Given the description of an element on the screen output the (x, y) to click on. 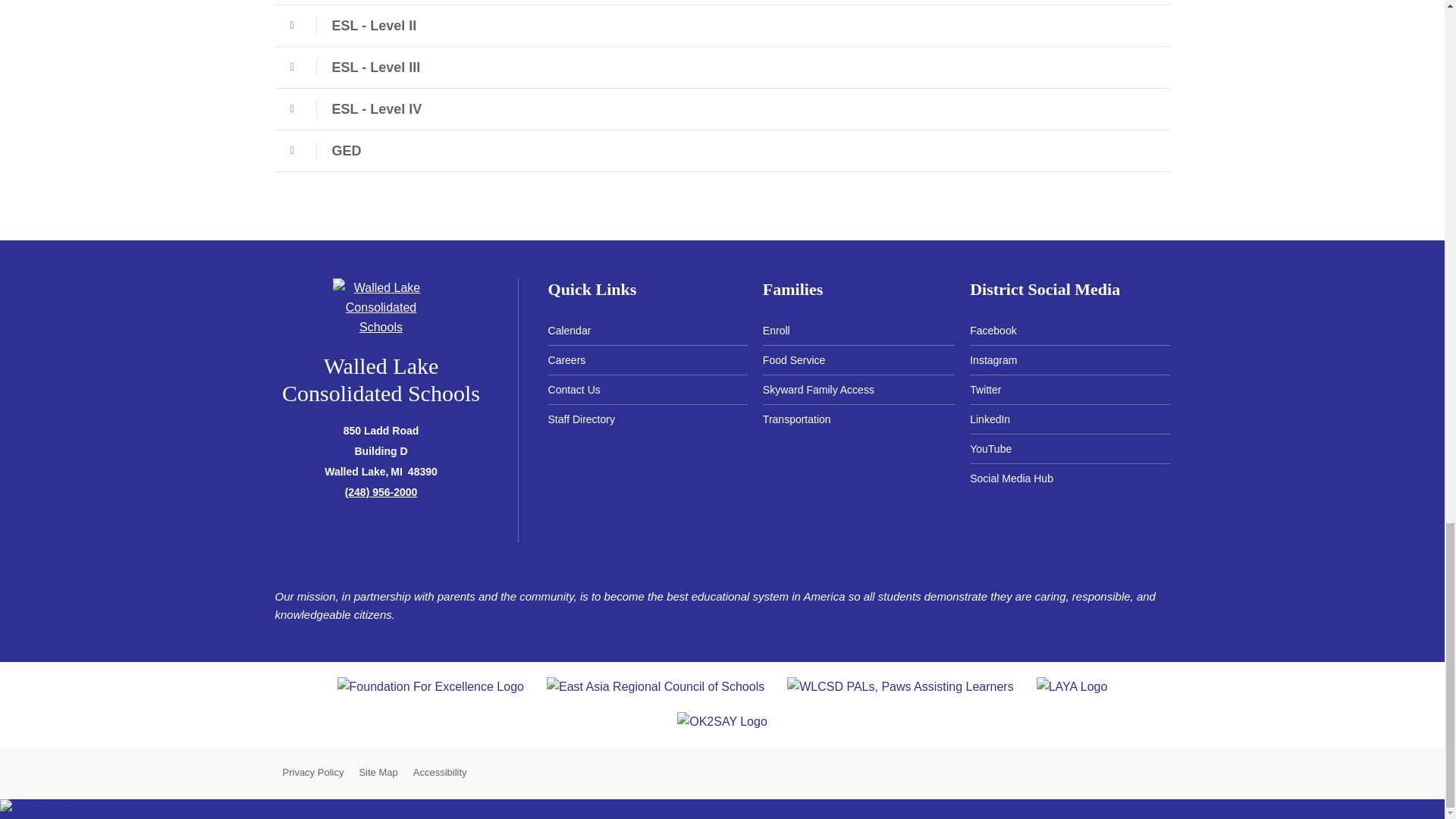
Powered by Finalsite opens in a new window (1219, 770)
